Given the description of an element on the screen output the (x, y) to click on. 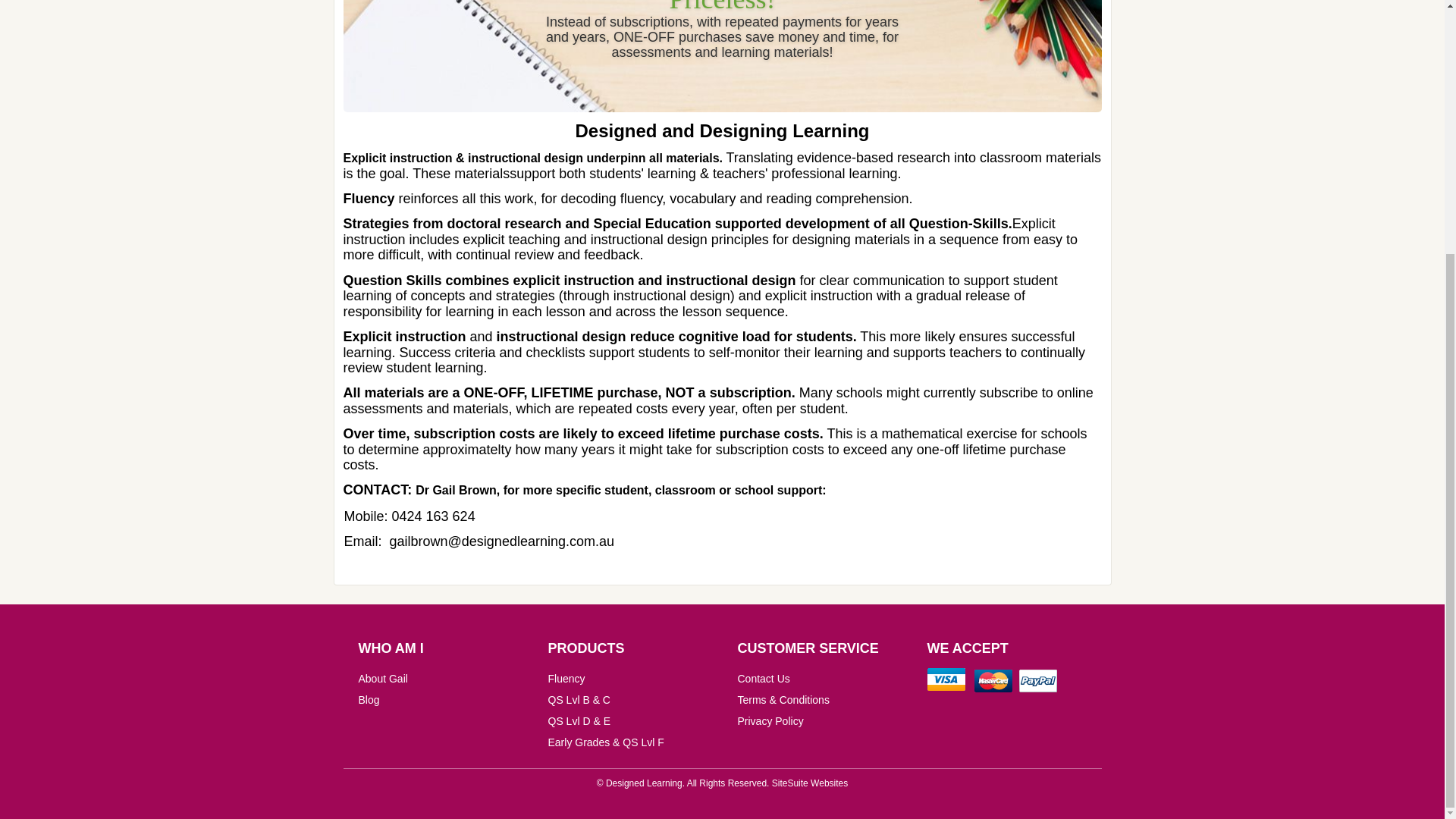
About Gail (382, 678)
Privacy Policy (769, 720)
Fluency (566, 678)
Contact Us (762, 678)
SiteSuite (789, 783)
Blog (368, 699)
